Given the description of an element on the screen output the (x, y) to click on. 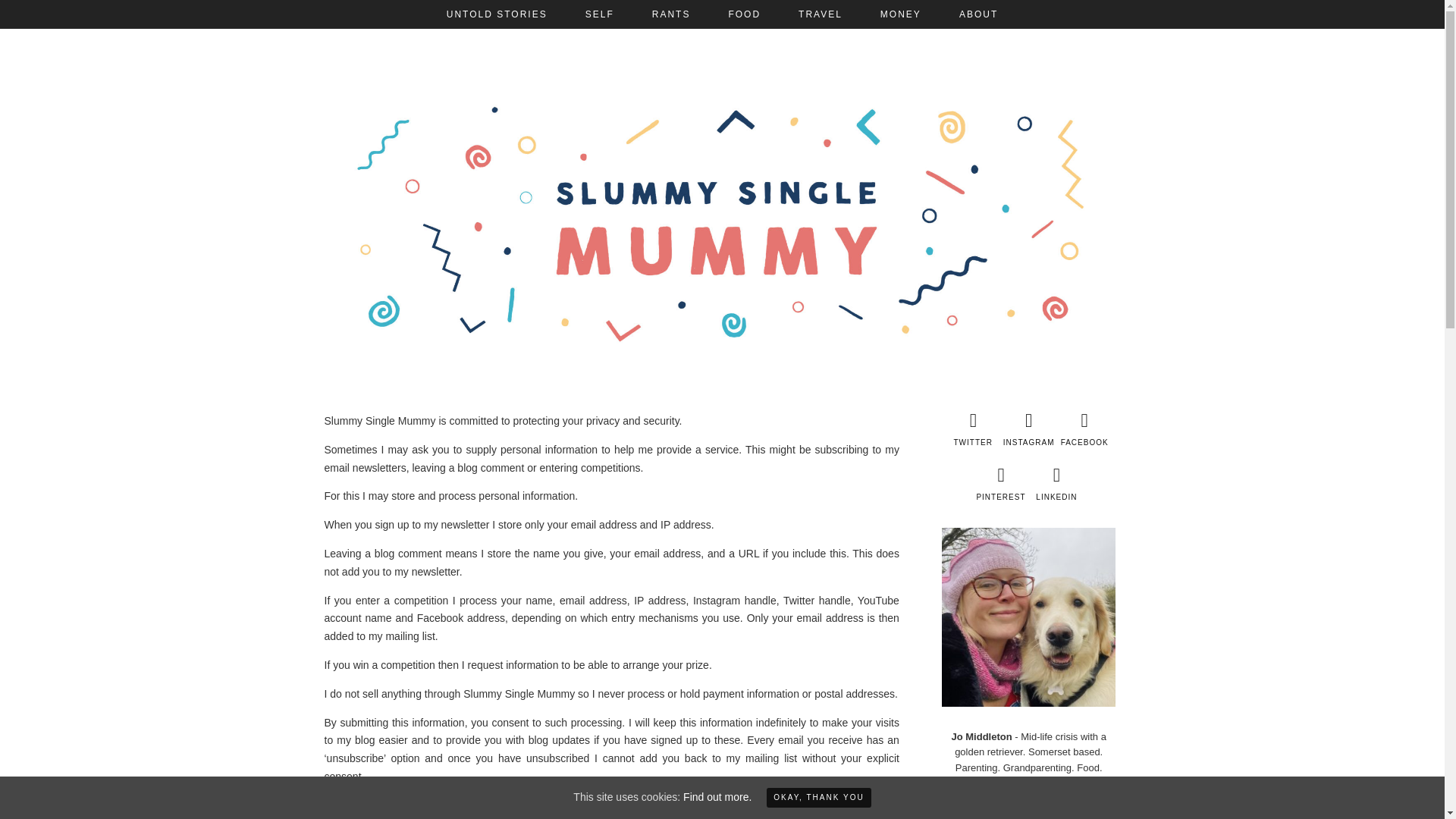
RANTS (671, 14)
PINTEREST (999, 483)
LINKEDIN (1056, 483)
facebook (1084, 428)
TRAVEL (819, 14)
instagram (1029, 428)
INSTAGRAM (1029, 428)
MONEY (900, 14)
SELF (599, 14)
pinterest (999, 483)
FOOD (743, 14)
twitter (972, 428)
UNTOLD STORIES (497, 14)
FACEBOOK (1084, 428)
